Given the description of an element on the screen output the (x, y) to click on. 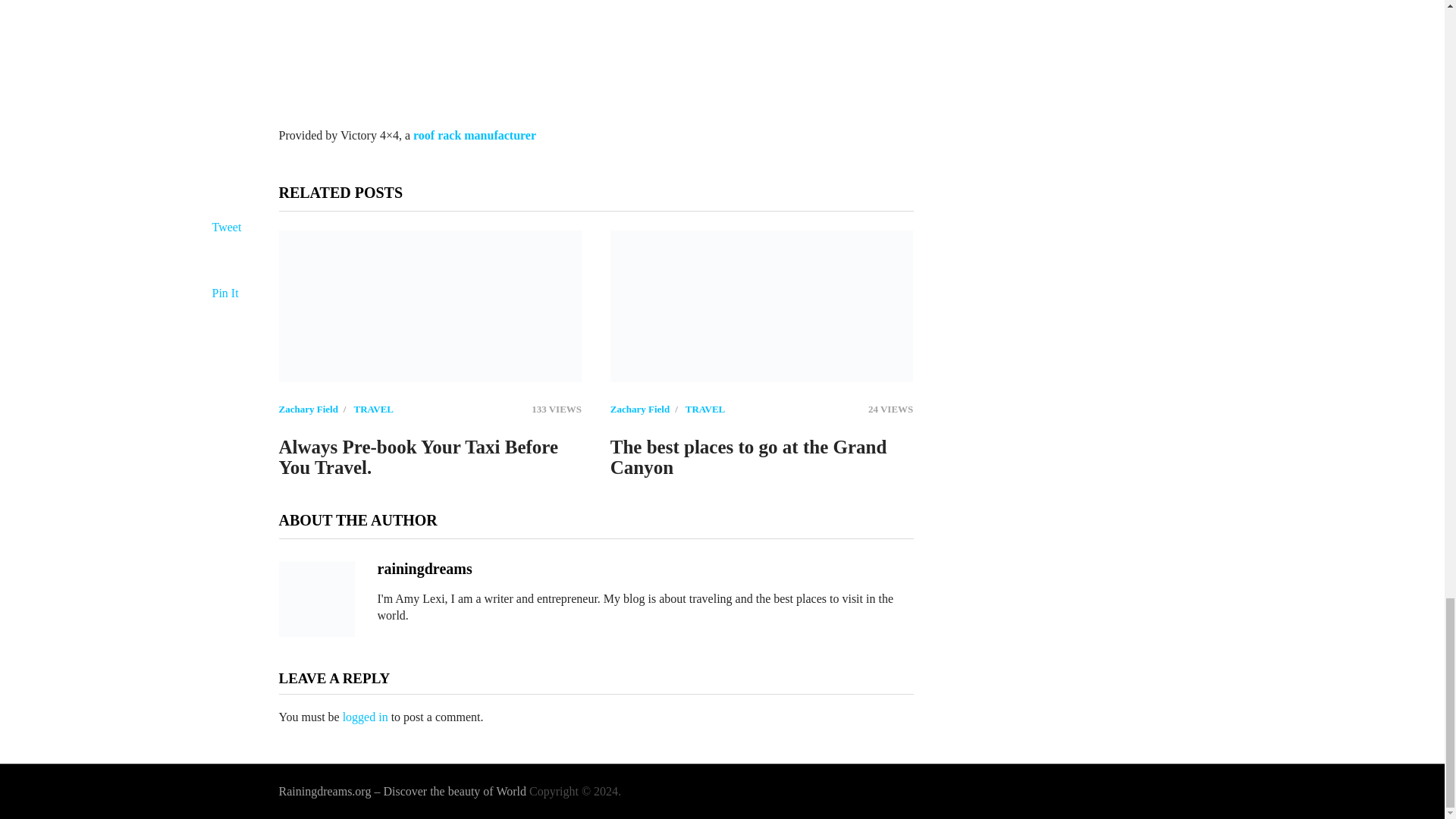
Always Pre-book Your Taxi Before You Travel. (430, 306)
Posts by Zachary Field (308, 408)
View all posts in Travel (373, 408)
roof rack manufacturer (474, 134)
